Given the description of an element on the screen output the (x, y) to click on. 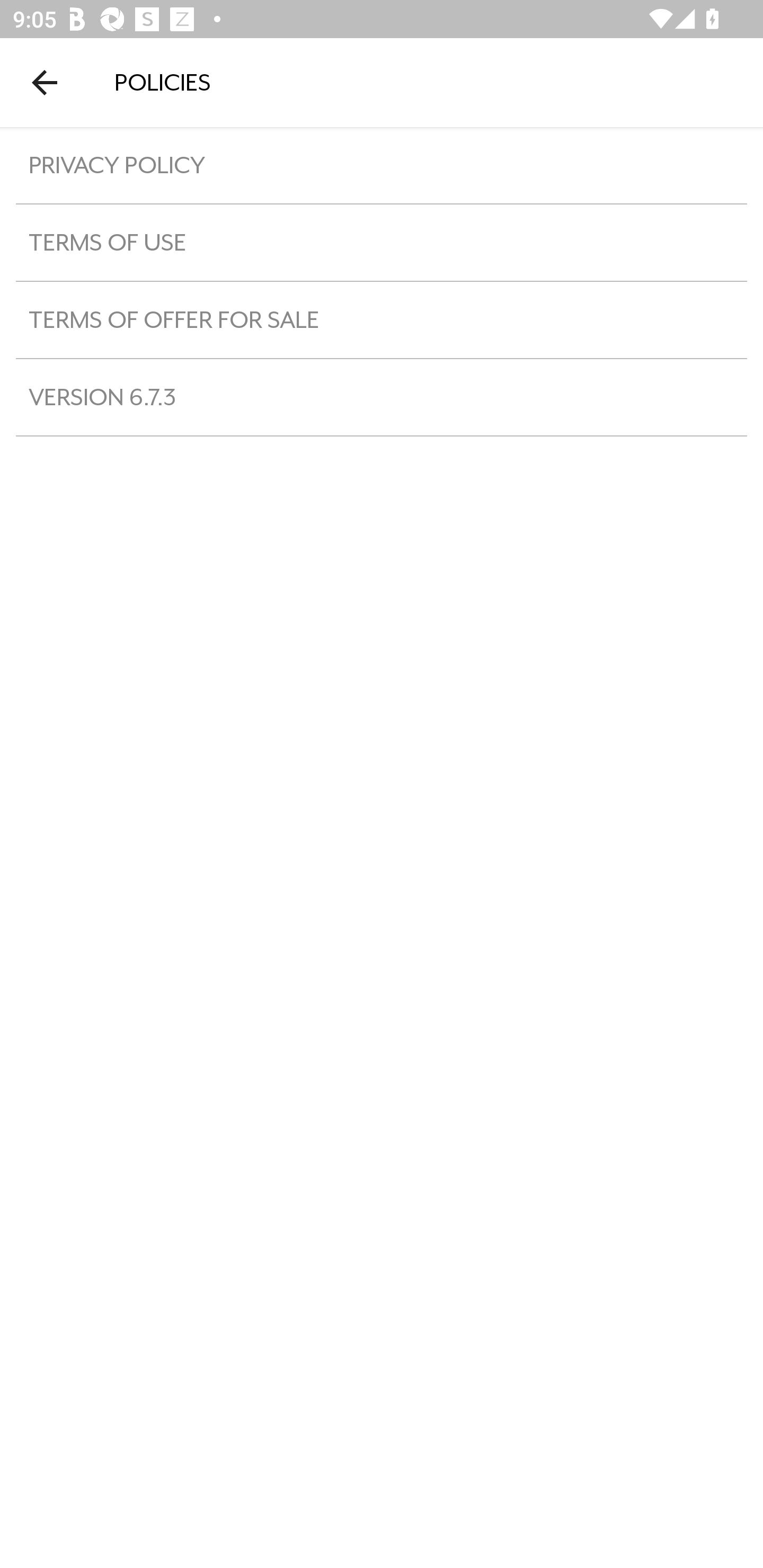
Navigate up (44, 82)
PRIVACY POLICY (381, 165)
TERMS OF USE (381, 241)
TERMS OF OFFER FOR SALE (381, 319)
VERSION 6.7.3 (381, 397)
